Given the description of an element on the screen output the (x, y) to click on. 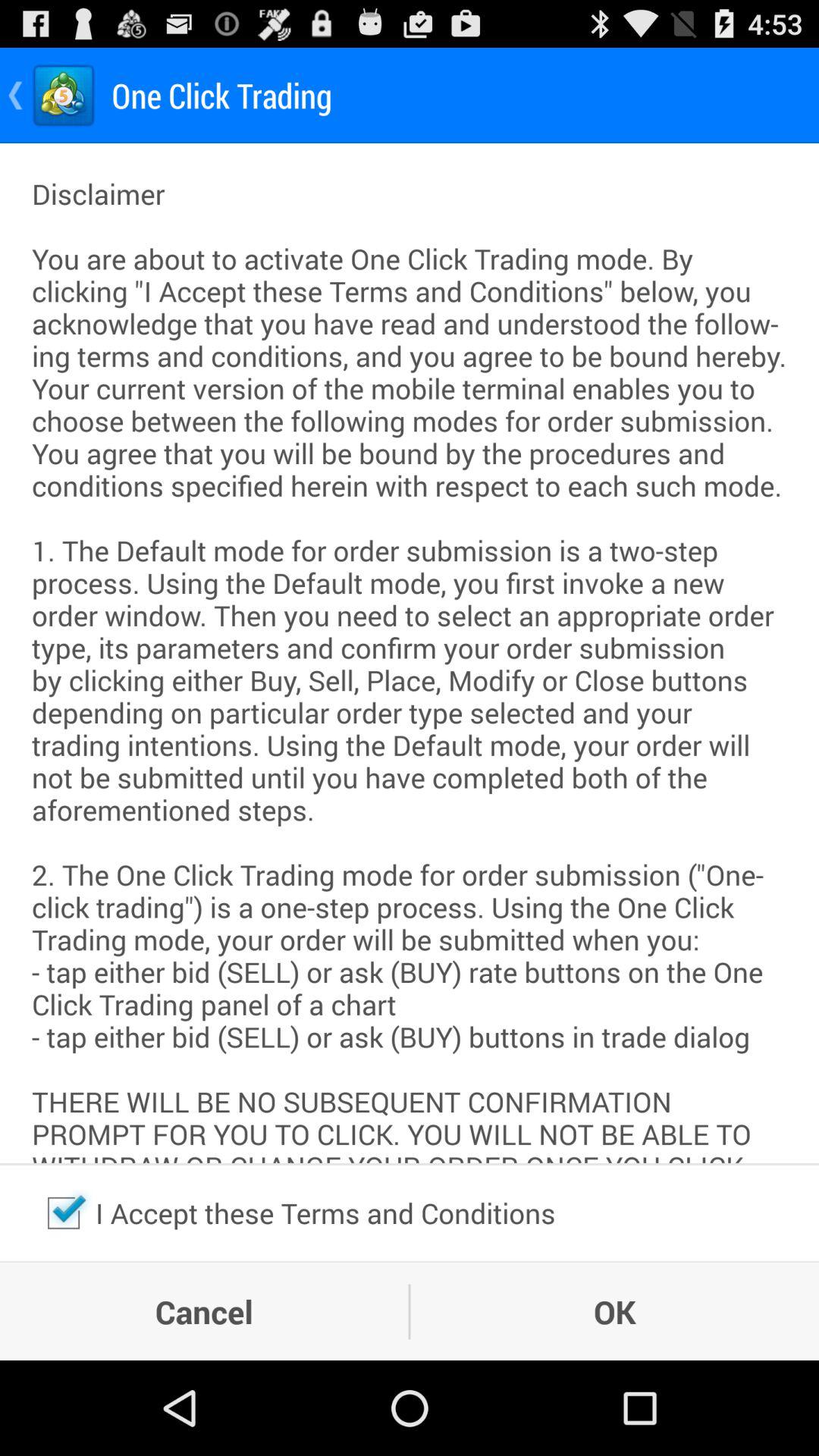
turn on cancel item (204, 1311)
